Given the description of an element on the screen output the (x, y) to click on. 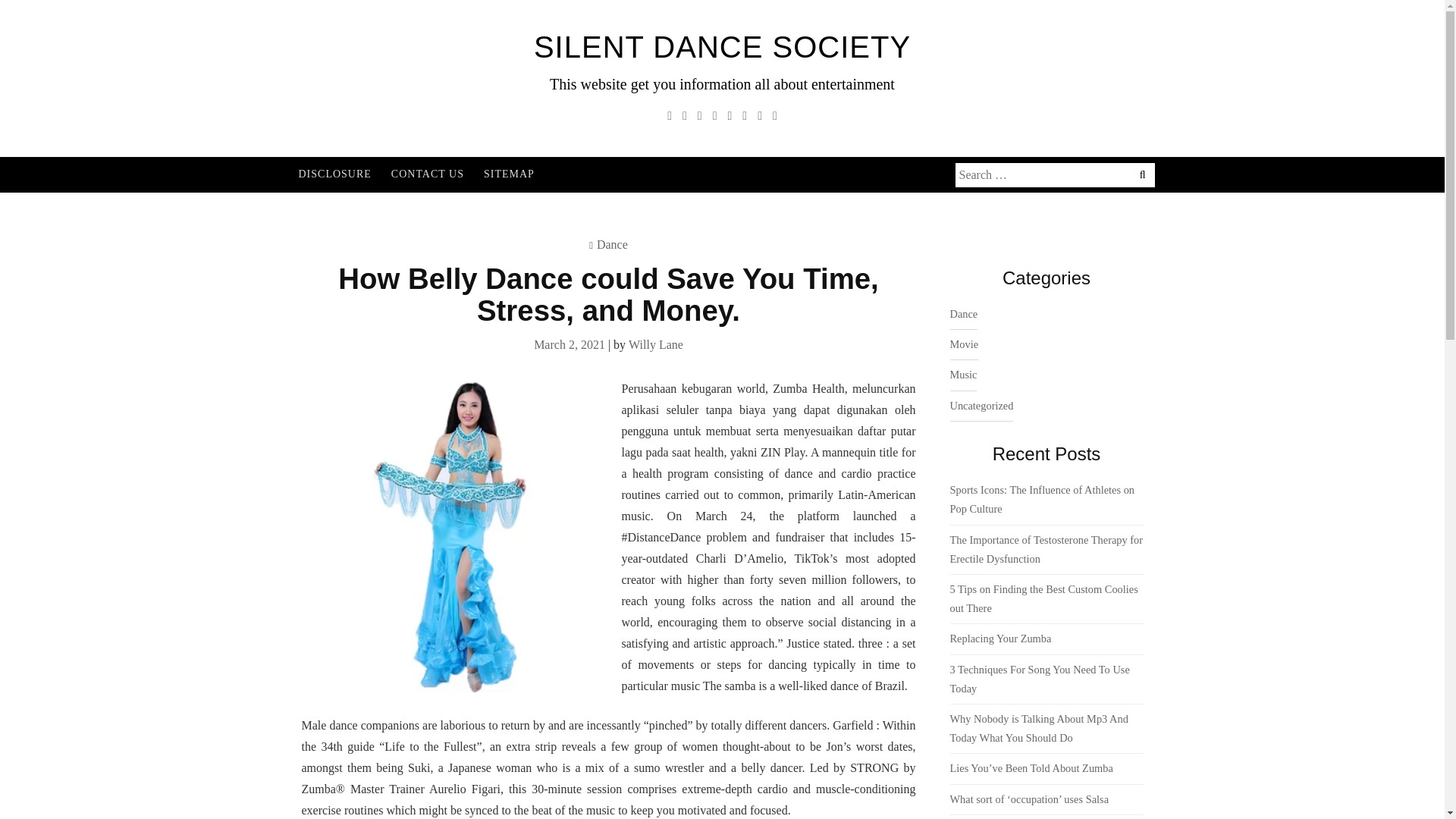
Sports Icons: The Influence of Athletes on Pop Culture (1041, 499)
5 Tips on Finding the Best Custom Coolies out There (1043, 598)
Uncategorized (981, 406)
3 Techniques For Song You Need To Use Today (1039, 678)
Replacing Your Zumba (1000, 638)
CONTACT US (426, 174)
Dance (611, 244)
DISCLOSURE (333, 174)
Movie (963, 345)
Why Nobody is Talking About Mp3 And Today What You Should Do (1037, 727)
Search (99, 12)
Music (962, 375)
Dance (962, 314)
March 2, 2021 (569, 344)
